Given the description of an element on the screen output the (x, y) to click on. 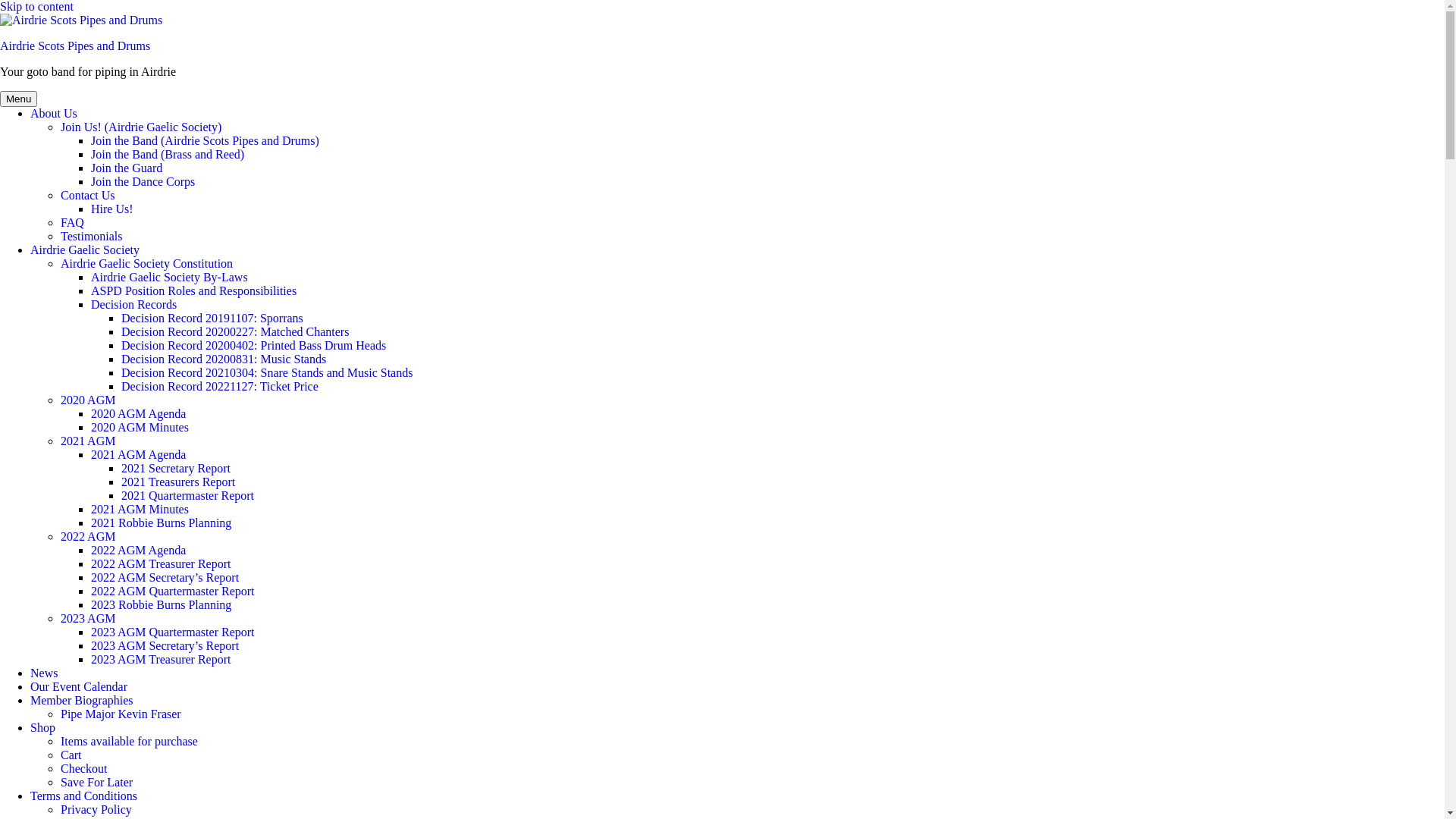
FAQ Element type: text (72, 222)
2021 Secretary Report Element type: text (175, 467)
Decision Record 20200227: Matched Chanters Element type: text (234, 331)
2023 AGM Treasurer Report Element type: text (160, 658)
Decision Record 20200402: Printed Bass Drum Heads Element type: text (253, 344)
2022 AGM Treasurer Report Element type: text (160, 563)
Save For Later Element type: text (96, 781)
Join the Band (Airdrie Scots Pipes and Drums) Element type: text (205, 140)
2021 Robbie Burns Planning Element type: text (161, 522)
2020 AGM Minutes Element type: text (139, 426)
Join the Guard Element type: text (126, 167)
Airdrie Scots Pipes and Drums Element type: text (75, 45)
ASPD Position Roles and Responsibilities Element type: text (193, 290)
Decision Record 20200831: Music Stands Element type: text (223, 358)
Items available for purchase Element type: text (128, 740)
Decision Record 20210304: Snare Stands and Music Stands Element type: text (266, 372)
2021 AGM Agenda Element type: text (138, 454)
2022 AGM Quartermaster Report Element type: text (172, 590)
2023 AGM Element type: text (87, 617)
2021 Treasurers Report Element type: text (178, 481)
Shop Element type: text (42, 727)
Airdrie Gaelic Society Element type: text (84, 249)
Checkout Element type: text (83, 768)
2021 AGM Element type: text (87, 440)
Decision Record 20191107: Sporrans Element type: text (212, 317)
News Element type: text (43, 672)
Pipe Major Kevin Fraser Element type: text (120, 713)
2022 AGM Agenda Element type: text (138, 549)
2020 AGM Element type: text (87, 399)
2020 AGM Agenda Element type: text (138, 413)
Cart Element type: text (70, 754)
2023 Robbie Burns Planning Element type: text (161, 604)
2023 AGM Quartermaster Report Element type: text (172, 631)
Hire Us! Element type: text (112, 208)
Airdrie Gaelic Society Constitution Element type: text (146, 263)
Contact Us Element type: text (87, 194)
Decision Record 20221127: Ticket Price Element type: text (219, 385)
2021 AGM Minutes Element type: text (139, 508)
Airdrie Gaelic Society By-Laws Element type: text (169, 276)
2021 Quartermaster Report Element type: text (187, 495)
About Us Element type: text (53, 112)
Menu Element type: text (18, 98)
Our Event Calendar Element type: text (78, 686)
Join the Band (Brass and Reed) Element type: text (167, 153)
2022 AGM Element type: text (87, 536)
Skip to content Element type: text (36, 6)
Join the Dance Corps Element type: text (142, 181)
Decision Records Element type: text (133, 304)
Join Us! (Airdrie Gaelic Society) Element type: text (140, 126)
Privacy Policy Element type: text (95, 809)
Member Biographies Element type: text (81, 699)
Testimonials Element type: text (91, 235)
Terms and Conditions Element type: text (83, 795)
